Given the description of an element on the screen output the (x, y) to click on. 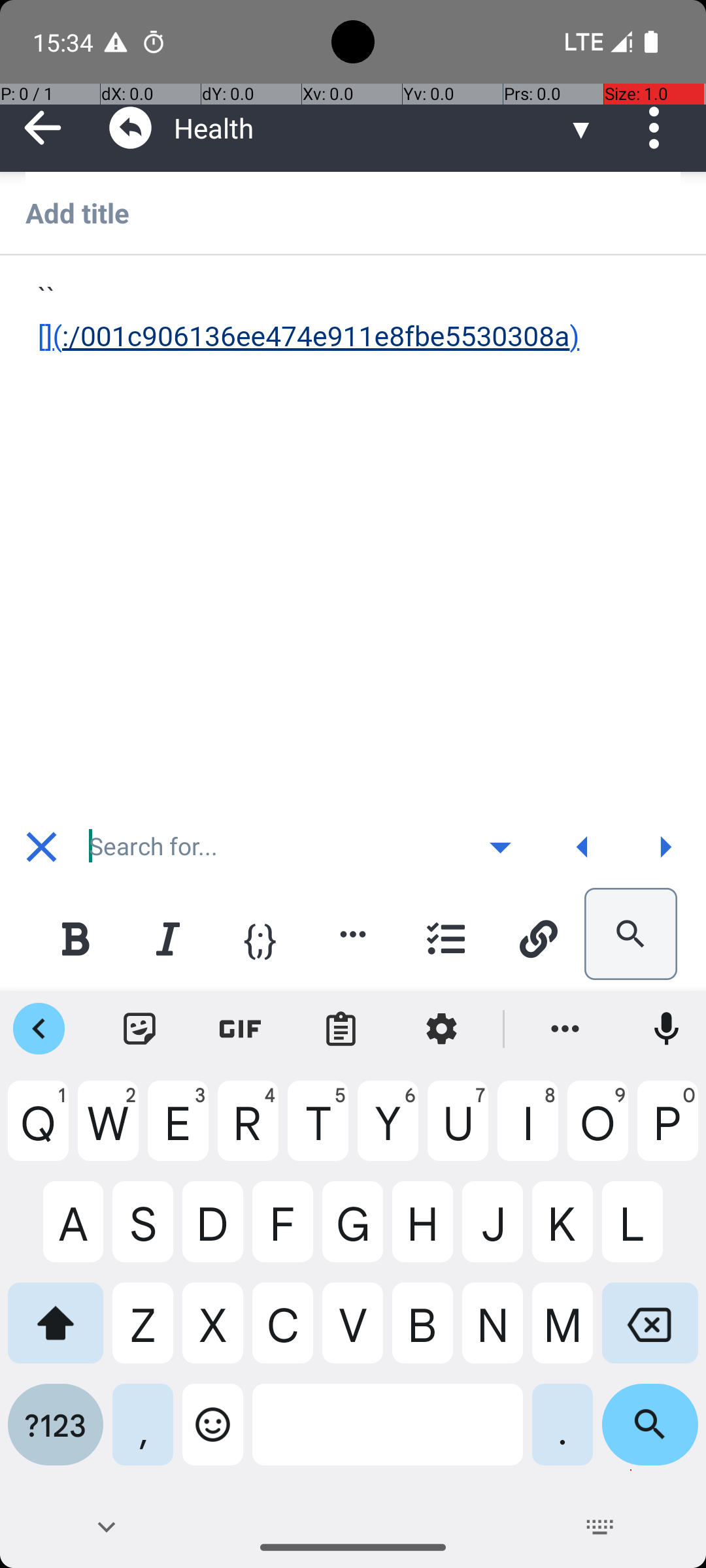
Add title Element type: android.widget.EditText (352, 212)
Search for... Element type: android.widget.EditText (270, 846)
Show advanced Element type: android.widget.Button (499, 846)
Previous match Element type: android.widget.Button (582, 846)
Next match Element type: android.widget.Button (664, 846)
 Element type: android.widget.TextView (130, 127)
󰅖 Element type: android.widget.TextView (41, 846)
󰍝 Element type: android.widget.TextView (500, 846)
󰍞 Element type: android.widget.TextView (582, 846)
󰍟 Element type: android.widget.TextView (664, 846)

[](:/001c906136ee474e911e8fbe5530308a) Element type: android.widget.EditText (354, 317)
